Given the description of an element on the screen output the (x, y) to click on. 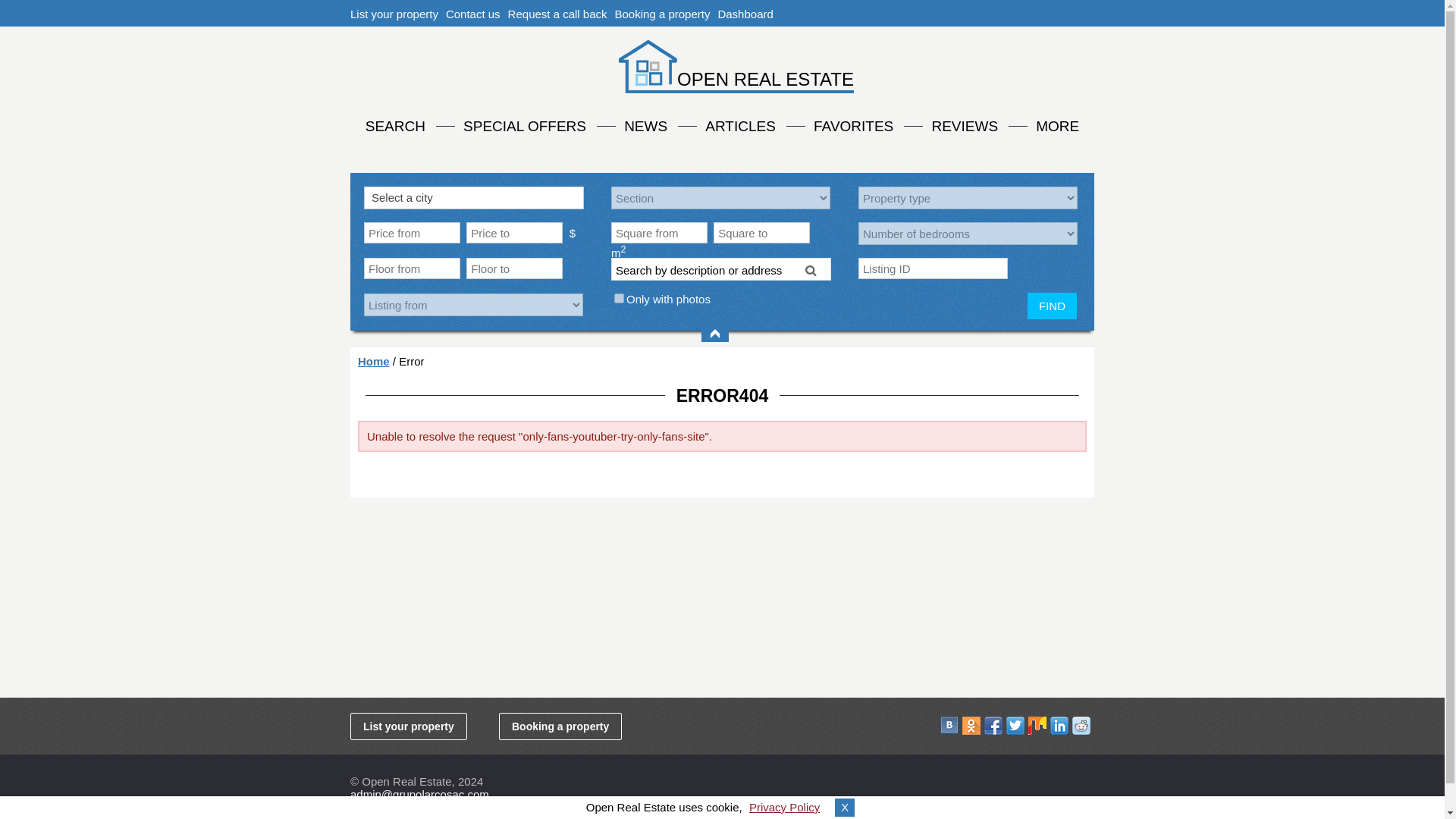
Booking a property (662, 13)
Dashboard (745, 13)
Error (410, 360)
Booking a property (560, 726)
ARTICLES (740, 125)
1 (619, 298)
FAVORITES (853, 125)
Request a call back (557, 13)
List your property (394, 13)
Find (812, 270)
